Given the description of an element on the screen output the (x, y) to click on. 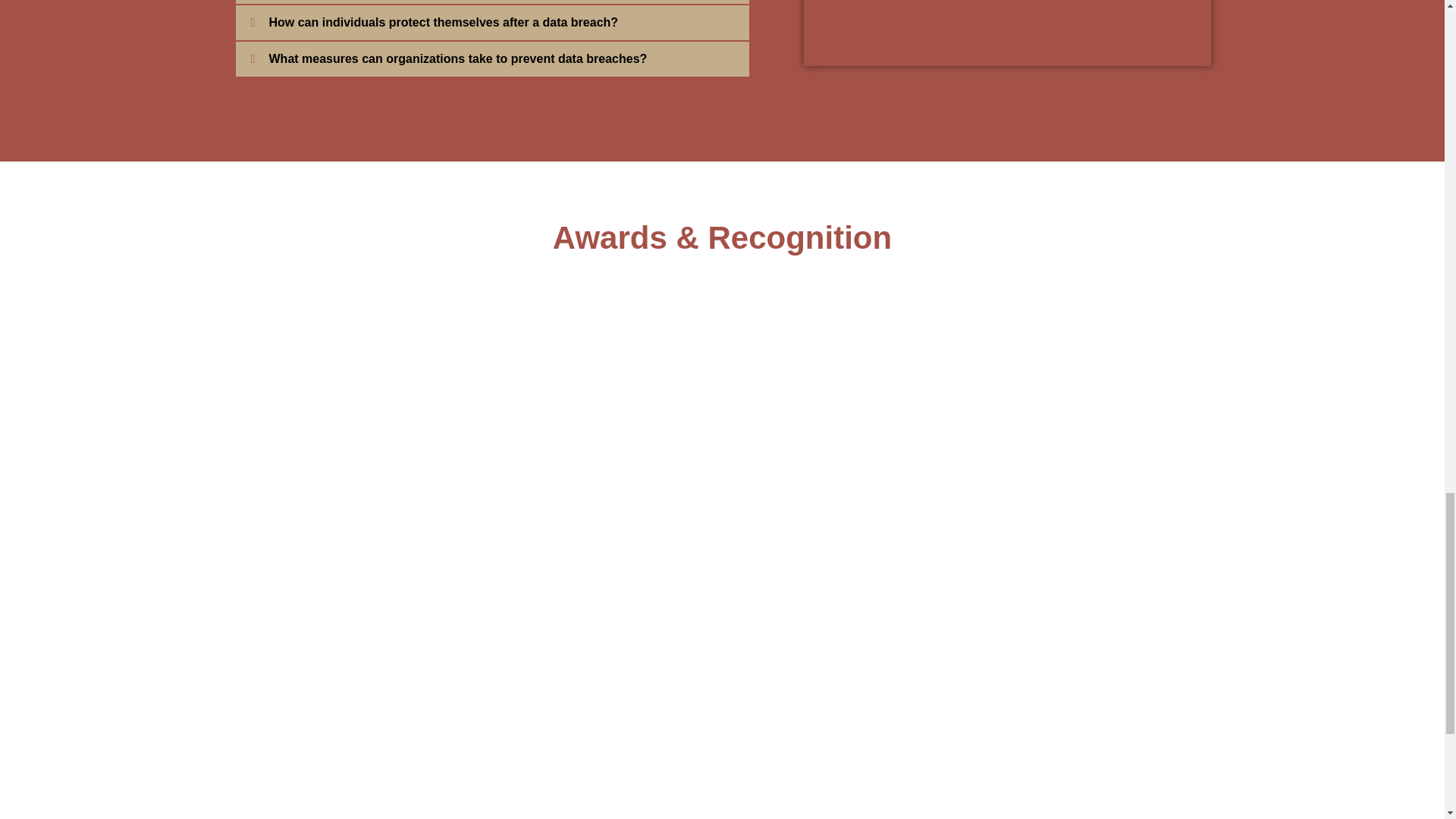
american-assoc-justice (608, 359)
superlawyers (835, 359)
million-dollar-adv-forum (380, 557)
nations-top-1percent (1062, 557)
How can individuals protect themselves after a data breach? (442, 21)
nat-trial-assoc-top100 (1062, 359)
2019-best-law-firms (380, 359)
2015-top-100-lawyers (608, 557)
multi-million-assoc-forum (835, 557)
